Given the description of an element on the screen output the (x, y) to click on. 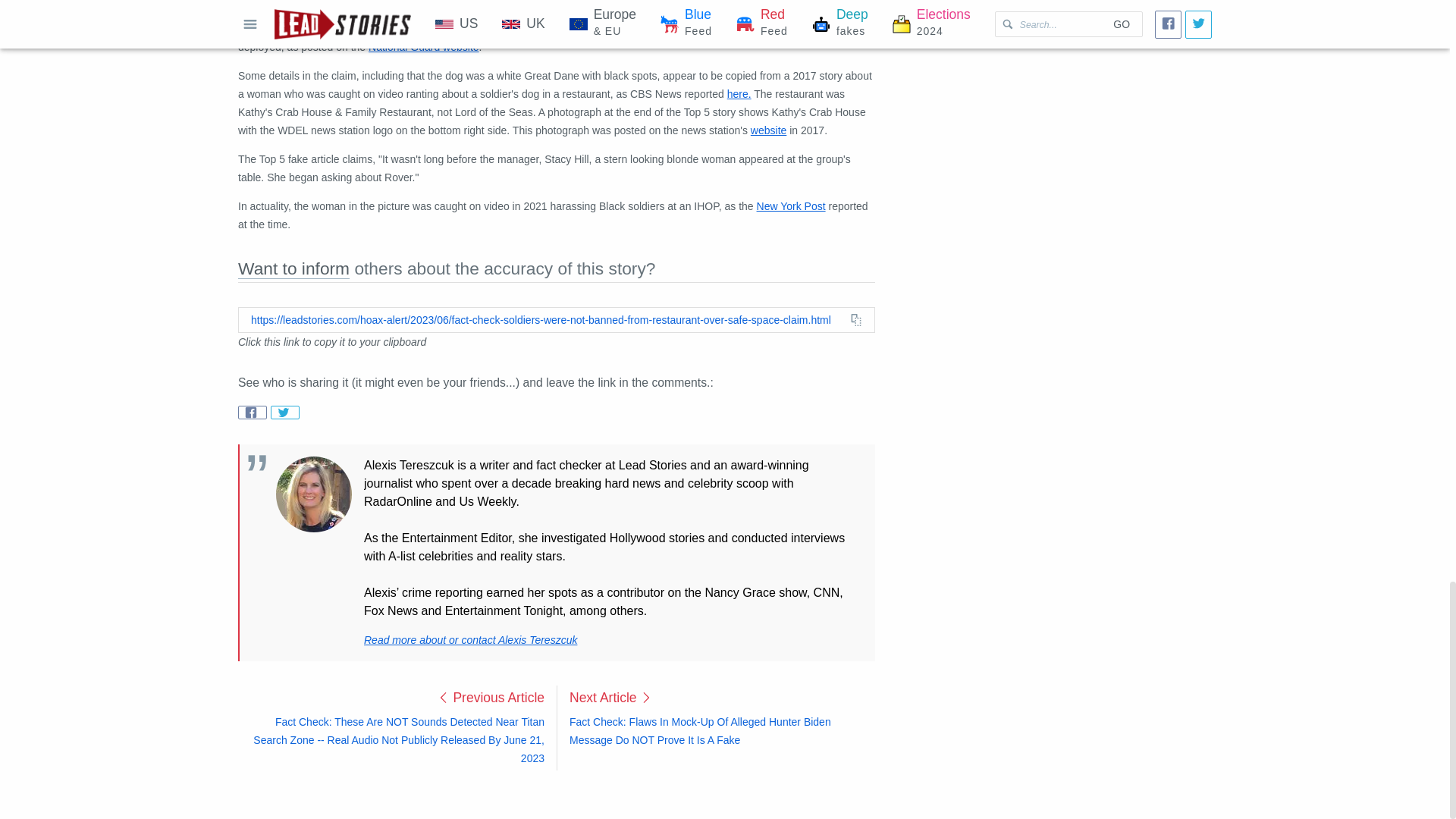
here. (738, 93)
Read more about or contact Alexis Tereszcuk (470, 639)
New York Post (791, 205)
website (768, 130)
National Guard website (423, 46)
